Given the description of an element on the screen output the (x, y) to click on. 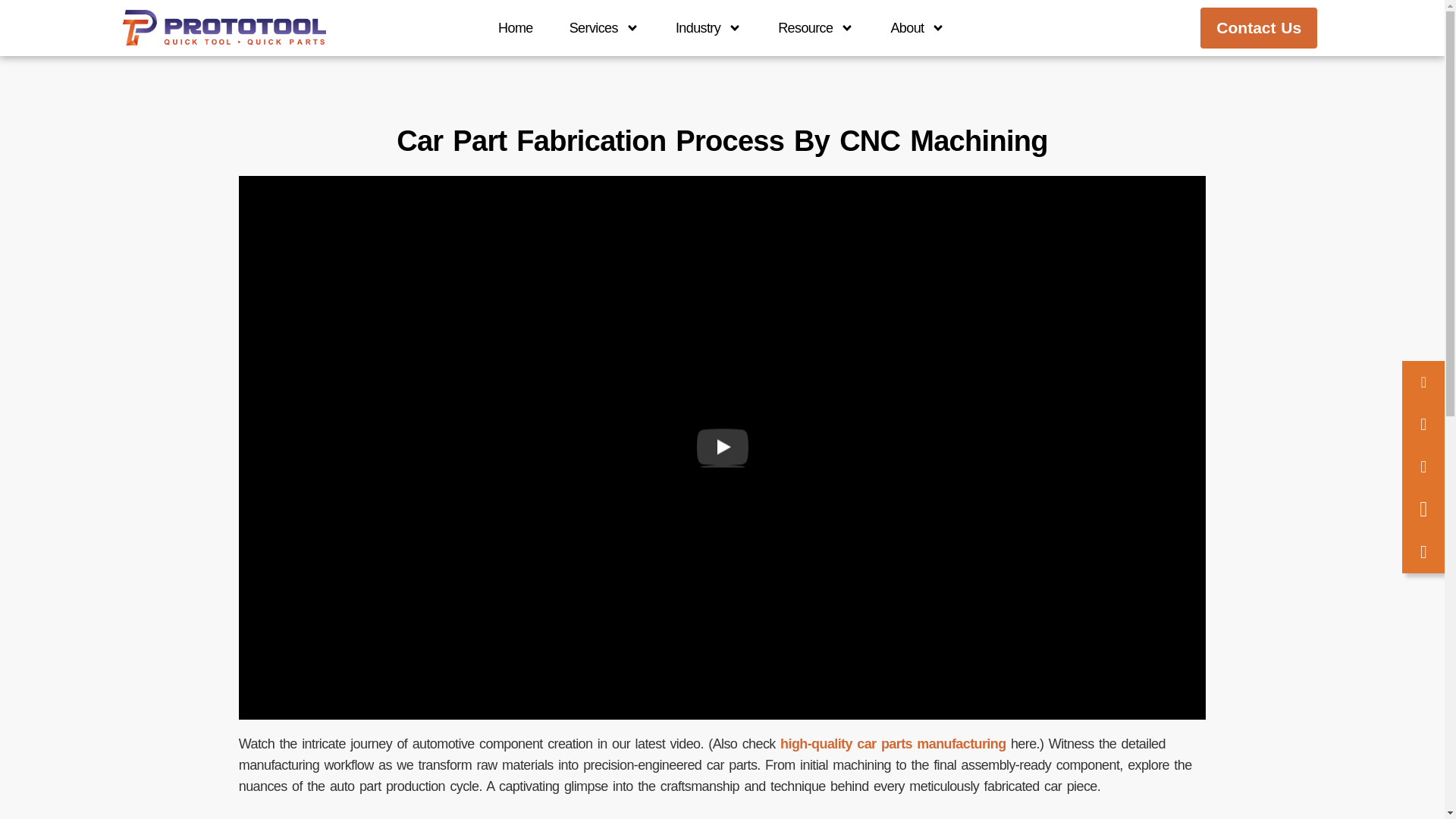
Home (515, 28)
Services (604, 28)
About (917, 28)
Industry (709, 28)
Resource (816, 28)
